Given the description of an element on the screen output the (x, y) to click on. 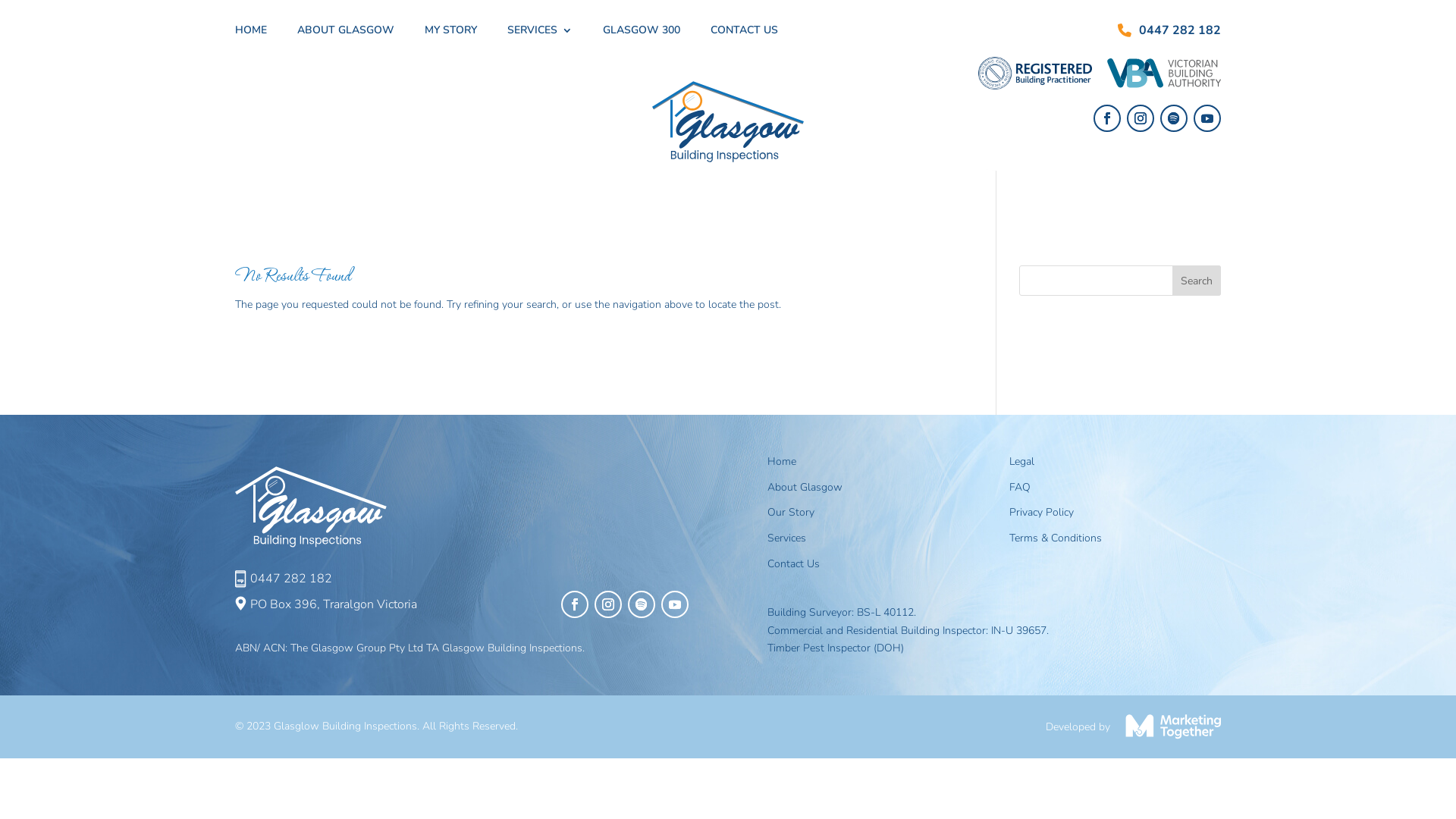
0447 282 182 Element type: text (1179, 29)
Home Element type: text (781, 461)
HOME Element type: text (250, 33)
MY STORY Element type: text (450, 33)
Privacy Policy Element type: text (1041, 512)
About Glasgow Element type: text (804, 487)
Terms & Conditions Element type: text (1055, 537)
Follow on Spotify Element type: hover (641, 604)
Follow on Facebook Element type: hover (574, 604)
Legal Element type: text (1021, 461)
CONTACT US Element type: text (744, 33)
Our Story Element type: text (790, 512)
Follow on Facebook Element type: hover (1106, 117)
Follow on Instagram Element type: hover (1140, 117)
GLASGOW 300 Element type: text (641, 33)
Follow on Youtube Element type: hover (674, 604)
ABOUT GLASGOW Element type: text (345, 33)
0447 282 182 Element type: text (291, 578)
FAQ Element type: text (1019, 487)
SERVICES Element type: text (539, 33)
Search Element type: text (1196, 280)
Follow on Spotify Element type: hover (1173, 117)
Follow on Youtube Element type: hover (1206, 117)
Follow on Instagram Element type: hover (607, 604)
Services Element type: text (786, 537)
Contact Us Element type: text (793, 563)
